Given the description of an element on the screen output the (x, y) to click on. 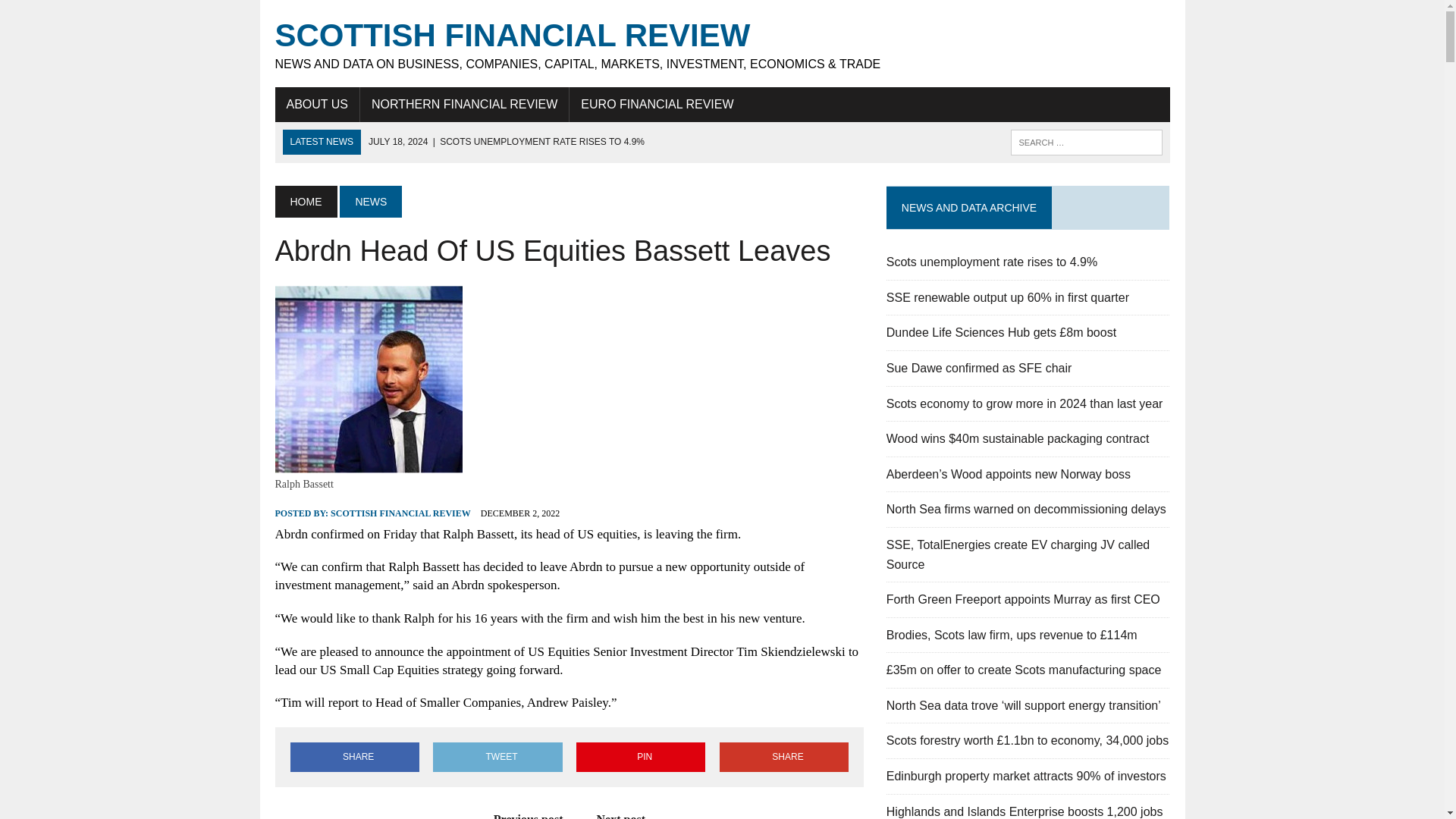
Forth Green Freeport appoints Murray as first CEO (1023, 599)
SSE, TotalEnergies create EV charging JV called Source (1018, 554)
HOME (305, 201)
Next post (628, 816)
NEWS (370, 201)
SHARE (783, 757)
Scottish Financial Review (722, 43)
Sue Dawe confirmed as SFE chair (978, 367)
Scots economy to grow more in 2024 than last year (1024, 403)
North Sea firms warned on decommissioning delays (1026, 508)
Share on Facebook (354, 757)
Pin This Post (640, 757)
PIN (640, 757)
NORTHERN FINANCIAL REVIEW (464, 104)
EURO FINANCIAL REVIEW (656, 104)
